Given the description of an element on the screen output the (x, y) to click on. 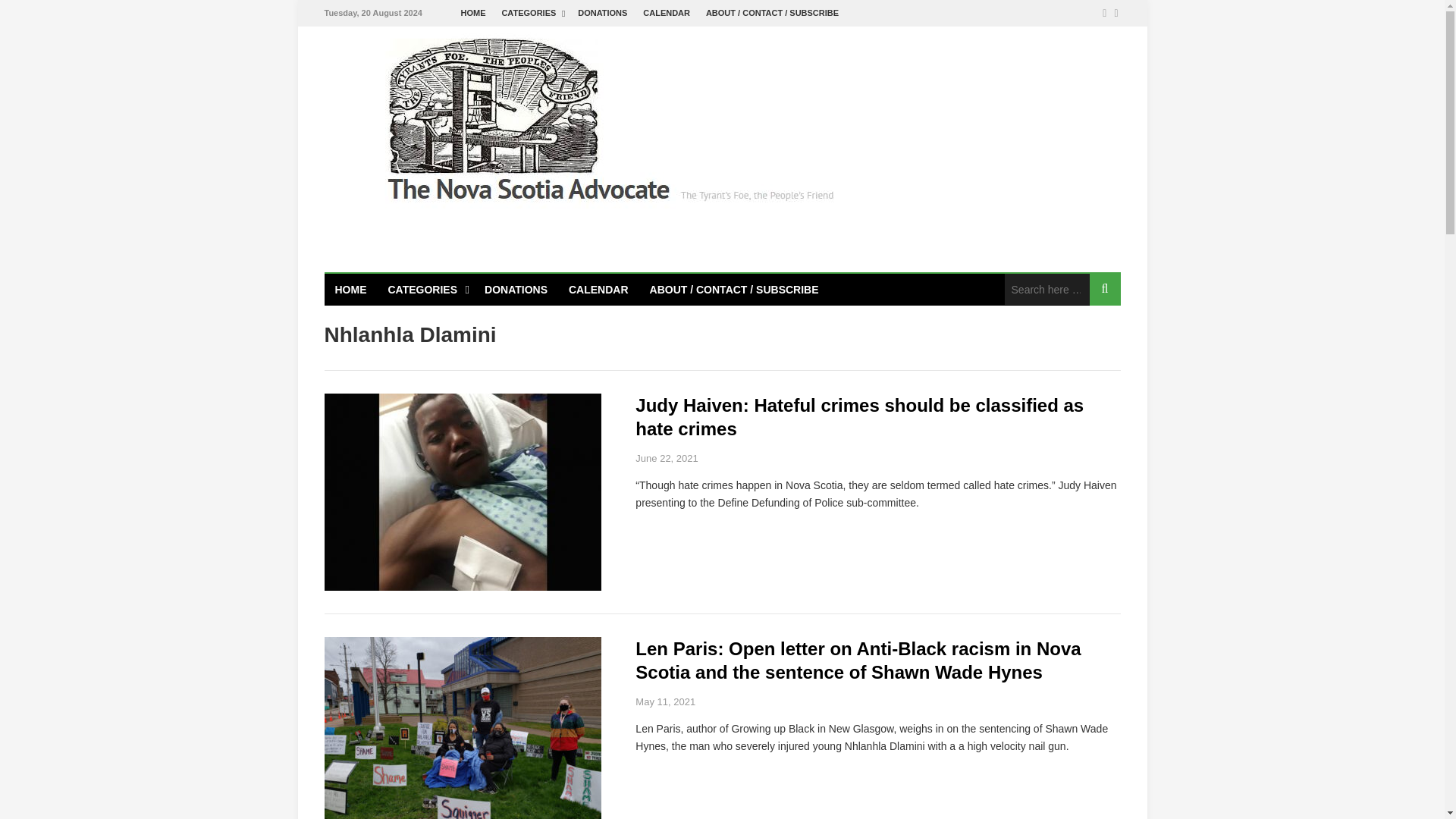
HOME (473, 13)
CATEGORIES (531, 13)
Tuesday, June 22, 2021, 6:20 pm (665, 458)
Search for: (1046, 288)
CALENDAR (666, 13)
DONATIONS (602, 13)
Tuesday, May 11, 2021, 9:47 am (664, 701)
